Given the description of an element on the screen output the (x, y) to click on. 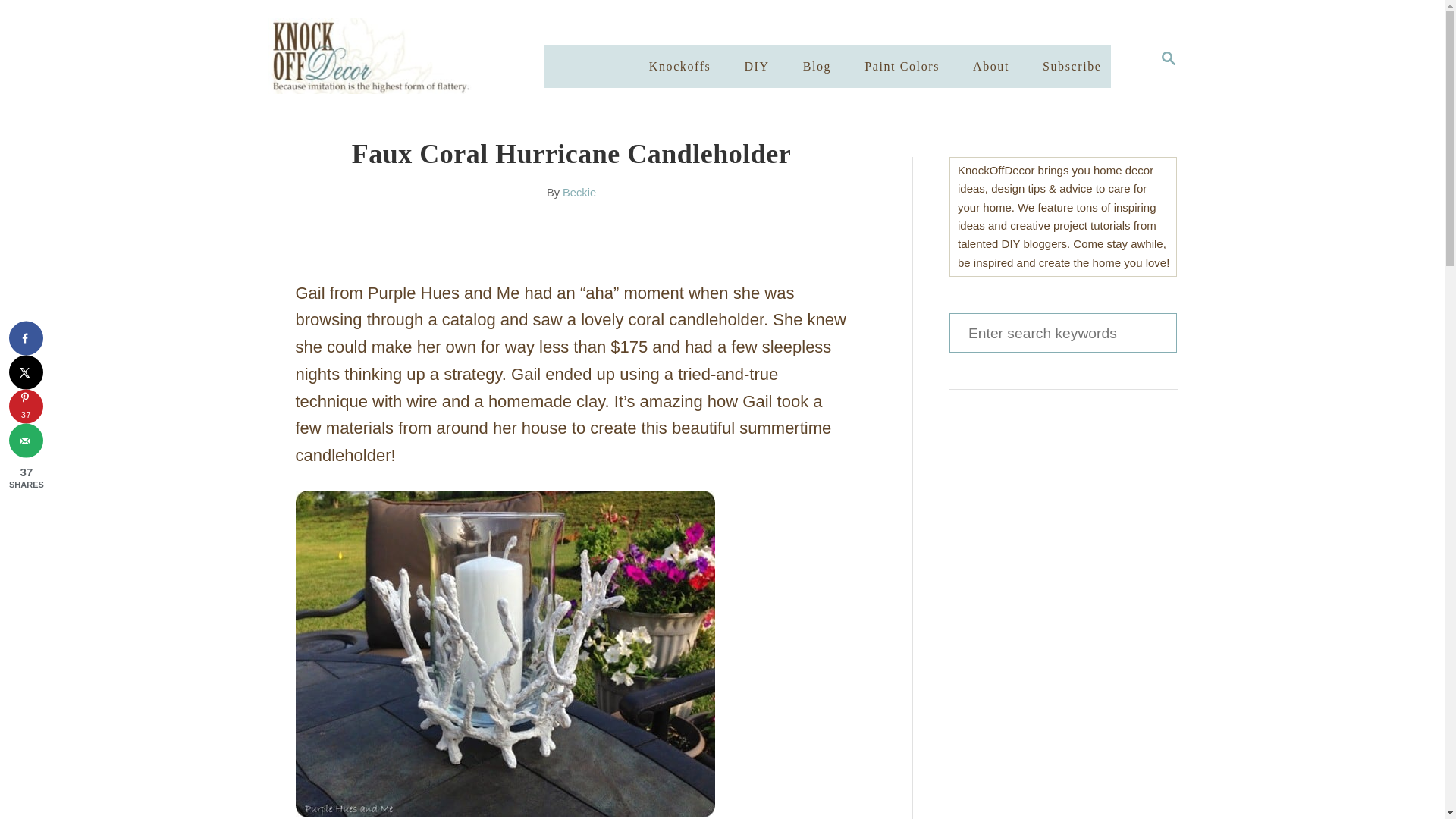
Send over email (25, 440)
Beckie (578, 192)
Knockoffs (680, 66)
Blog (817, 66)
MAGNIFYING GLASS (1167, 58)
Share on X (25, 372)
KnockOffDecor.com (420, 60)
DIY (756, 66)
Paint Colors (902, 66)
About (1167, 59)
Subscribe (990, 66)
Search for: (1071, 66)
Share on Facebook (1062, 332)
